Given the description of an element on the screen output the (x, y) to click on. 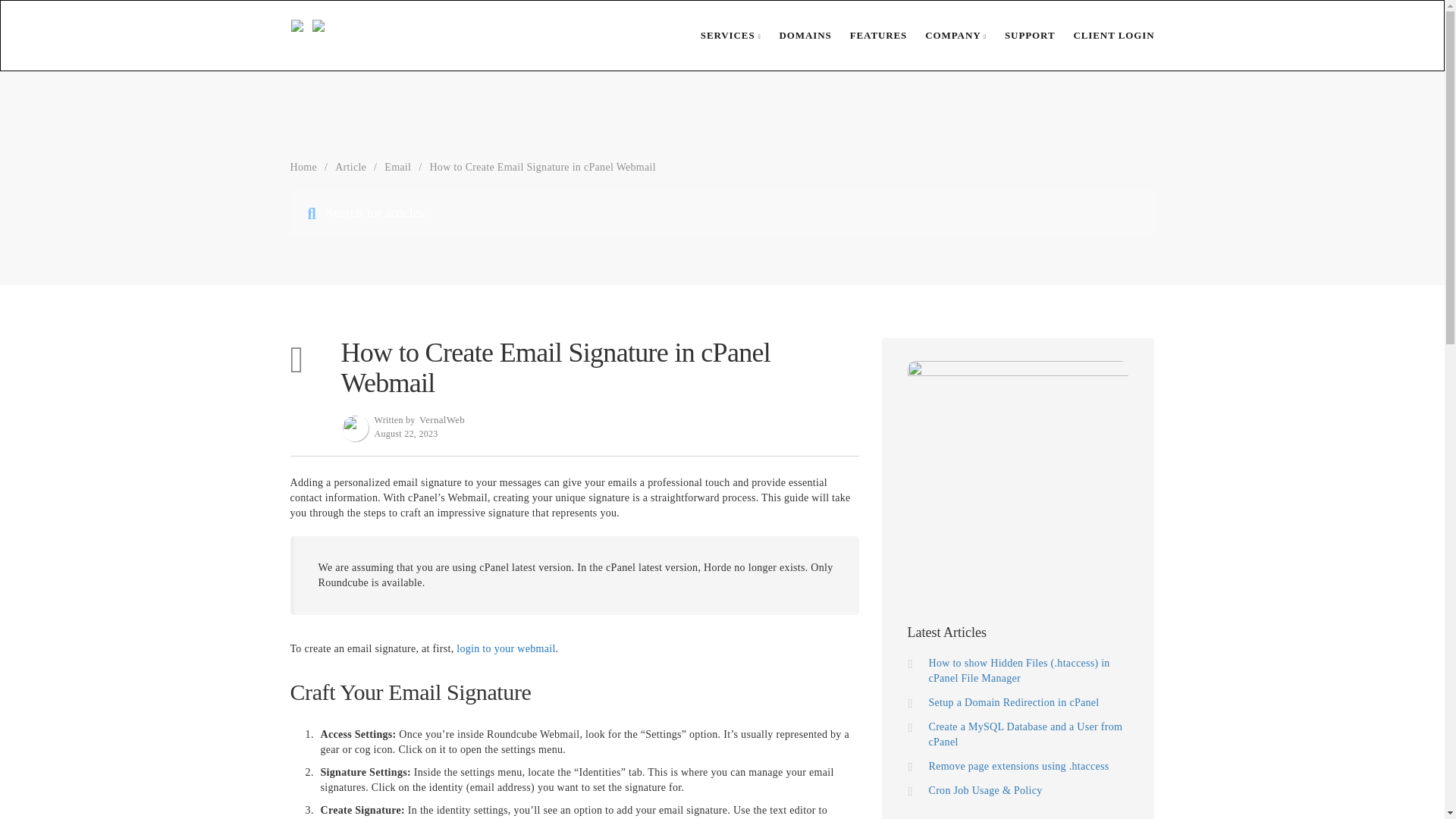
CLIENT LOGIN (1104, 35)
FEATURES (869, 35)
COMPANY (947, 35)
DOMAINS (796, 35)
login to your webmail (505, 648)
SUPPORT (1021, 35)
Home (302, 166)
Email (397, 166)
Article (350, 166)
SERVICES (721, 35)
